Given the description of an element on the screen output the (x, y) to click on. 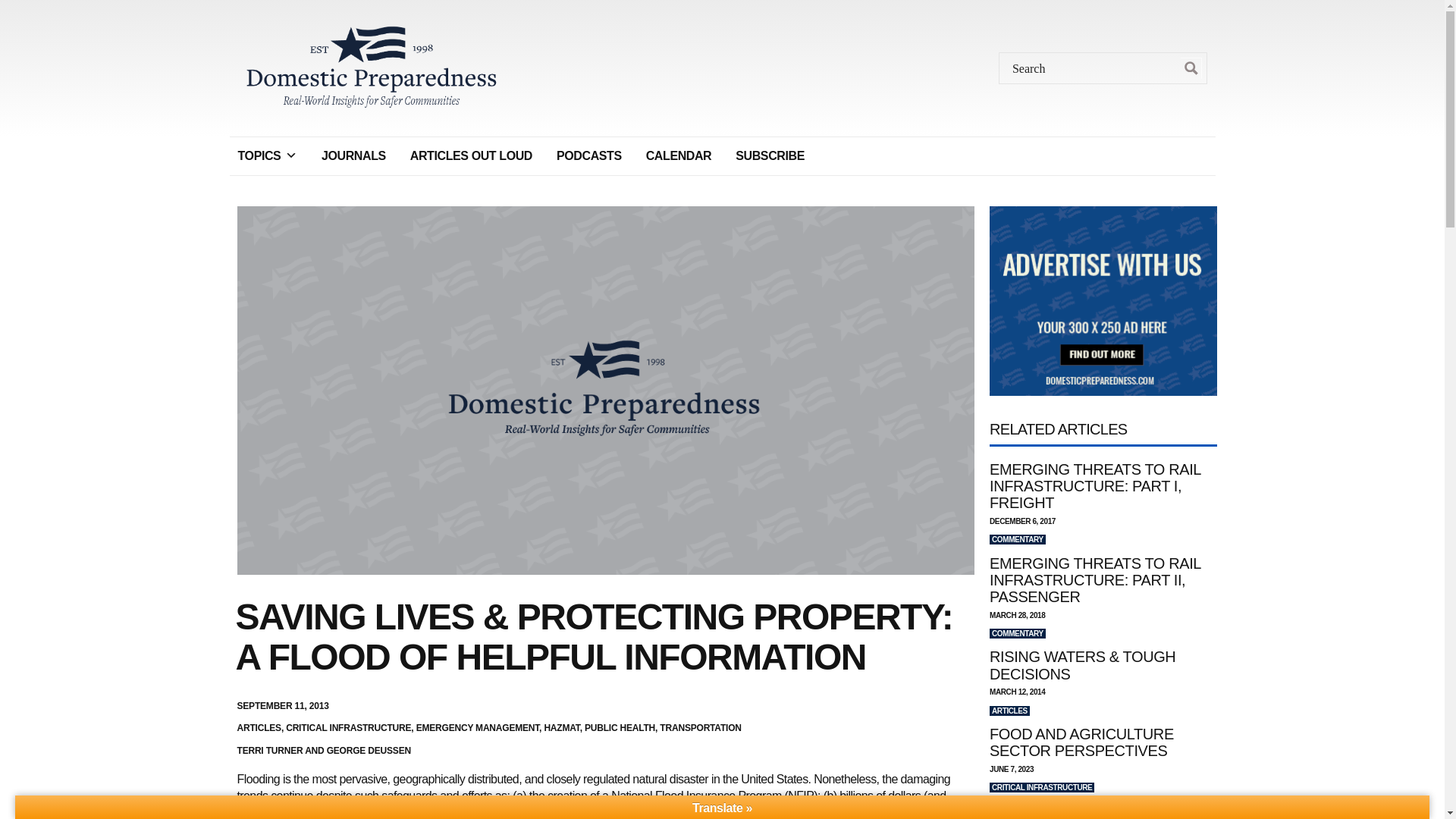
JOURNALS (353, 155)
TOPICS (266, 155)
SUBSCRIBE (769, 155)
PODCASTS (589, 155)
View all posts by George Deussen (368, 750)
CALENDAR (678, 155)
View all posts by Terri Turner (268, 750)
ARTICLES OUT LOUD (470, 155)
